Given the description of an element on the screen output the (x, y) to click on. 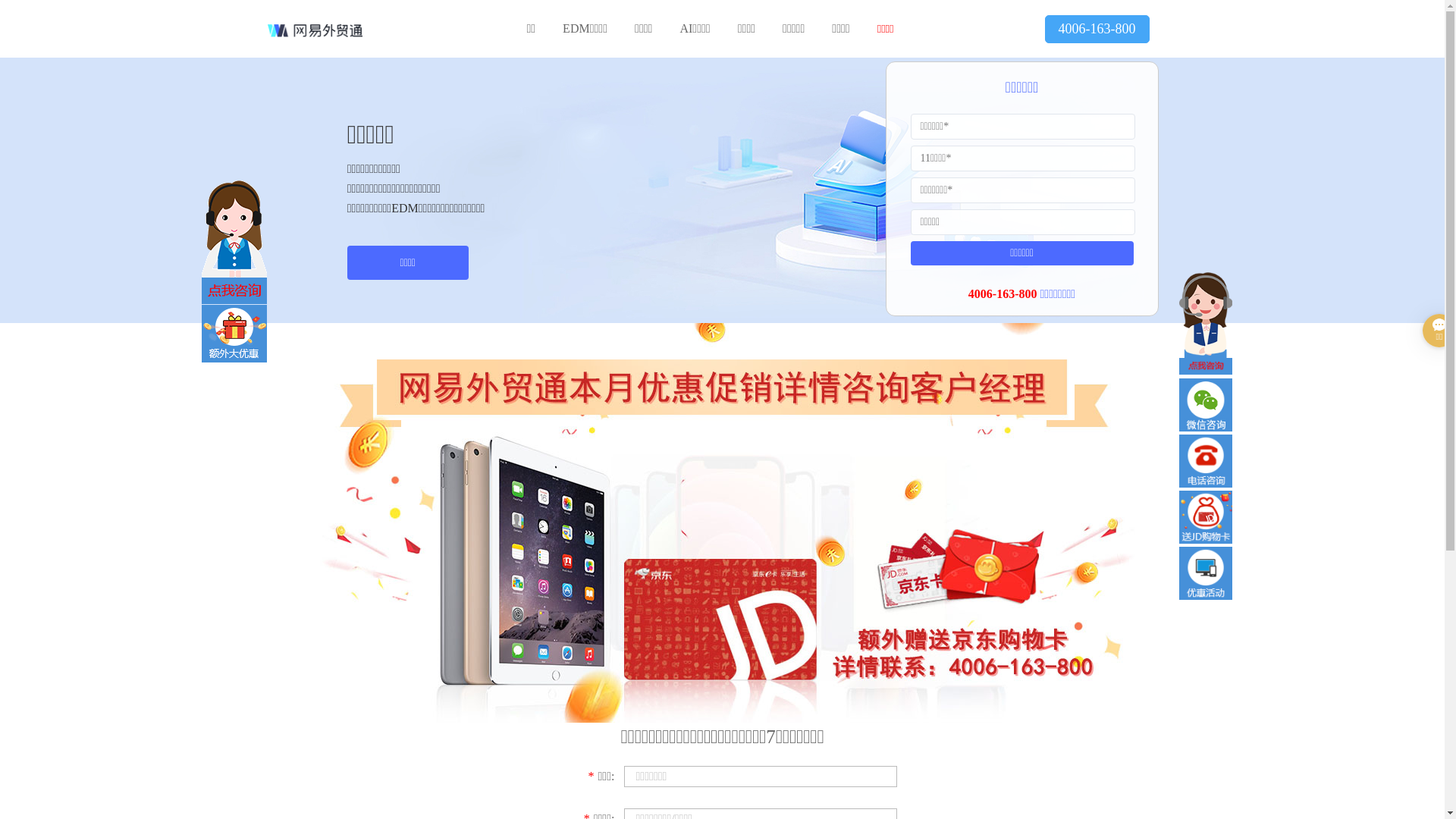
4006-163-800 Element type: text (1096, 29)
